Given the description of an element on the screen output the (x, y) to click on. 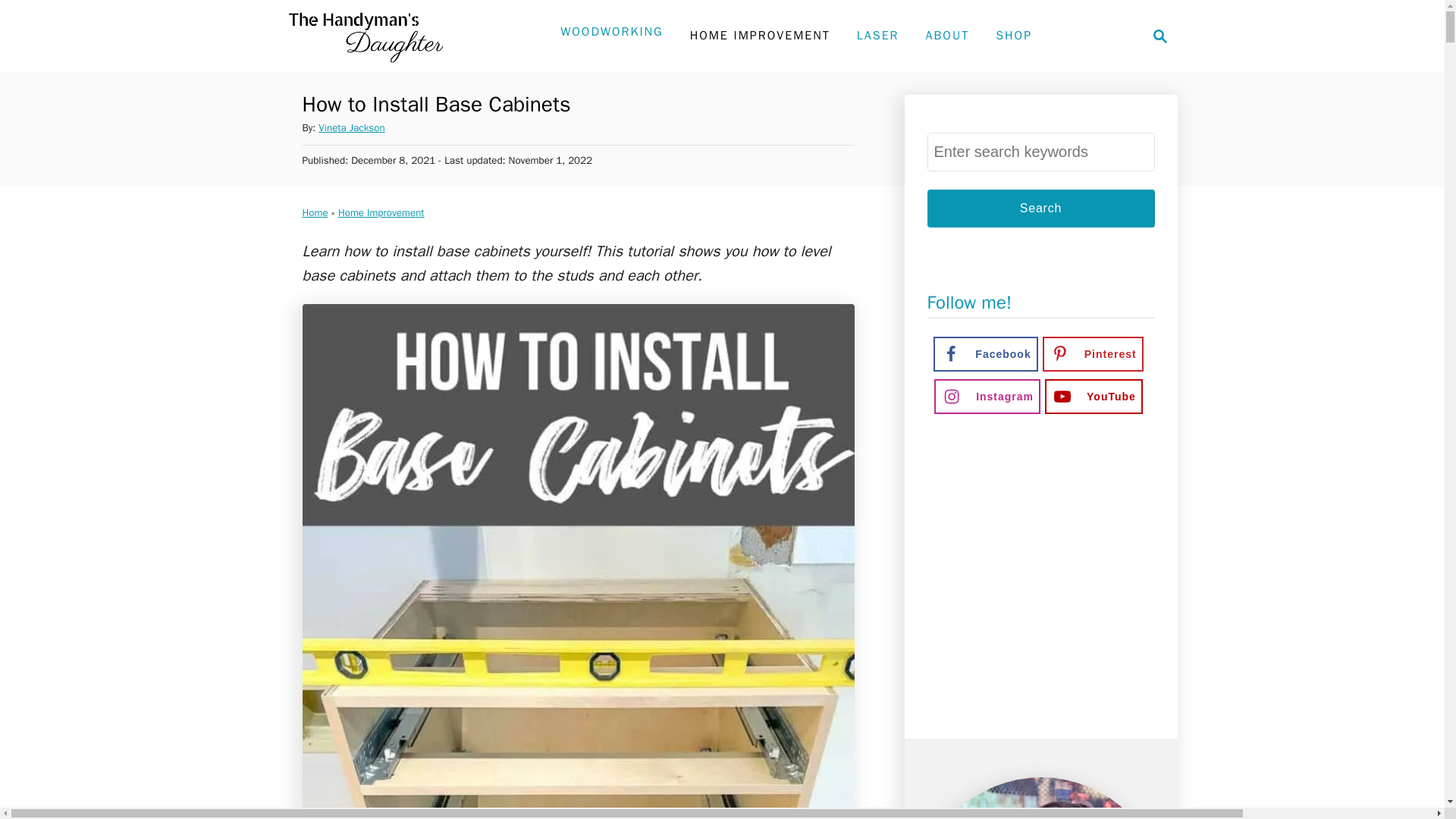
ABOUT (946, 35)
HOME IMPROVEMENT (760, 35)
Search (1040, 208)
WOODWORKING (1155, 36)
LASER (611, 31)
Search (877, 35)
The Handyman's Daughter (1040, 208)
Vineta Jackson (363, 35)
Magnifying Glass (351, 127)
